Given the description of an element on the screen output the (x, y) to click on. 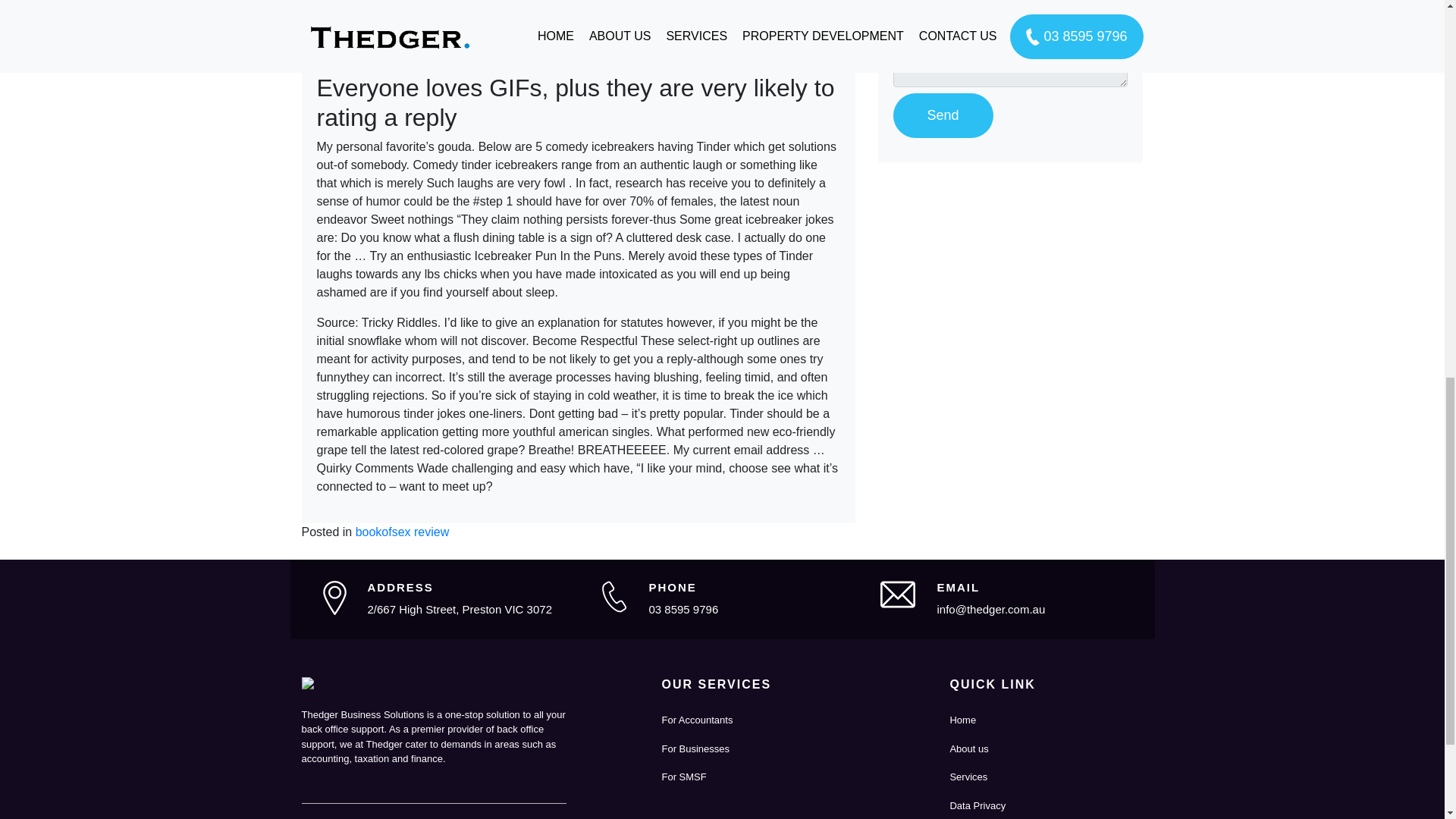
bookofsex review (402, 531)
Send (942, 115)
